Given the description of an element on the screen output the (x, y) to click on. 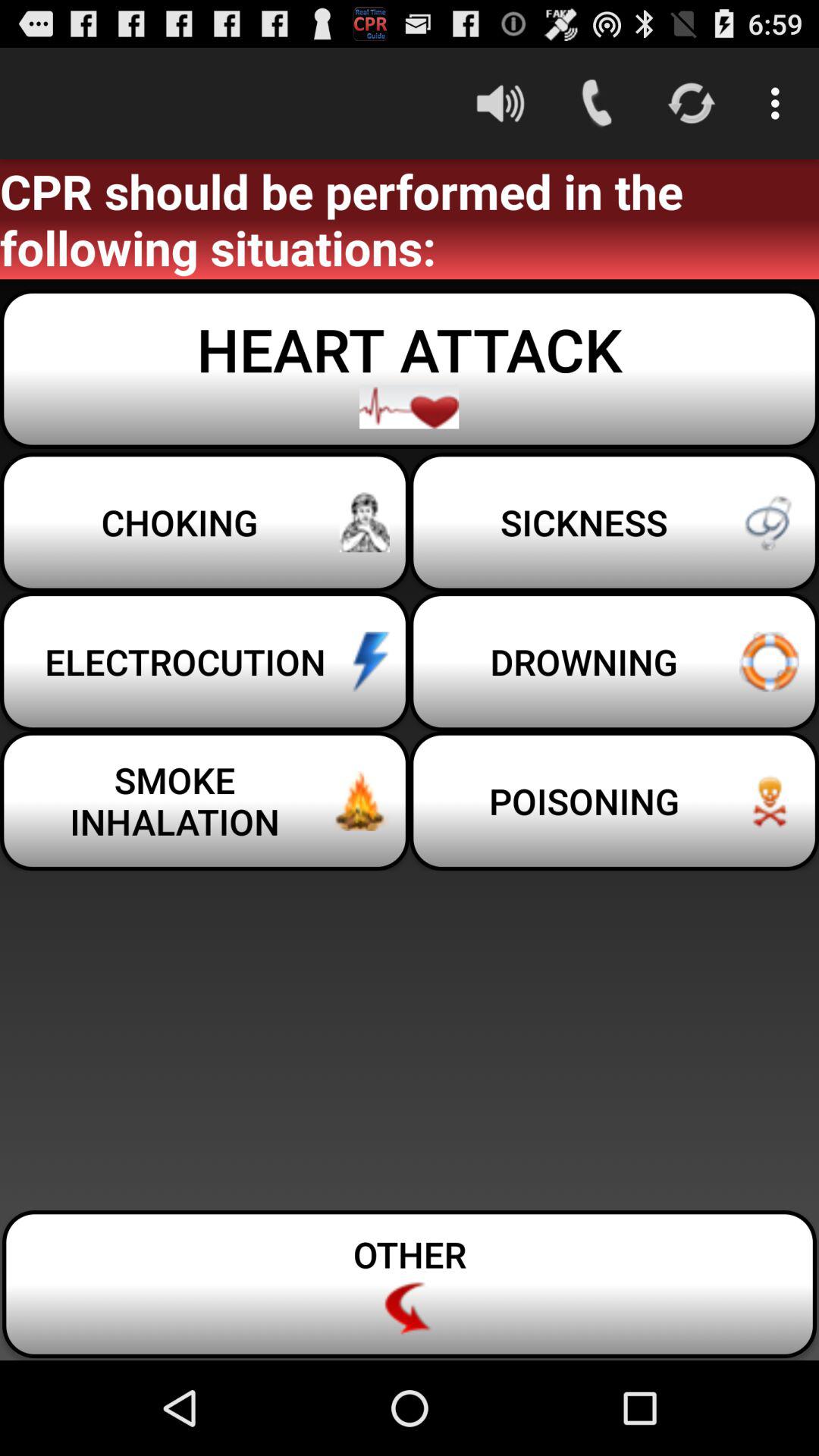
launch item below smoke inhalation item (409, 1284)
